Given the description of an element on the screen output the (x, y) to click on. 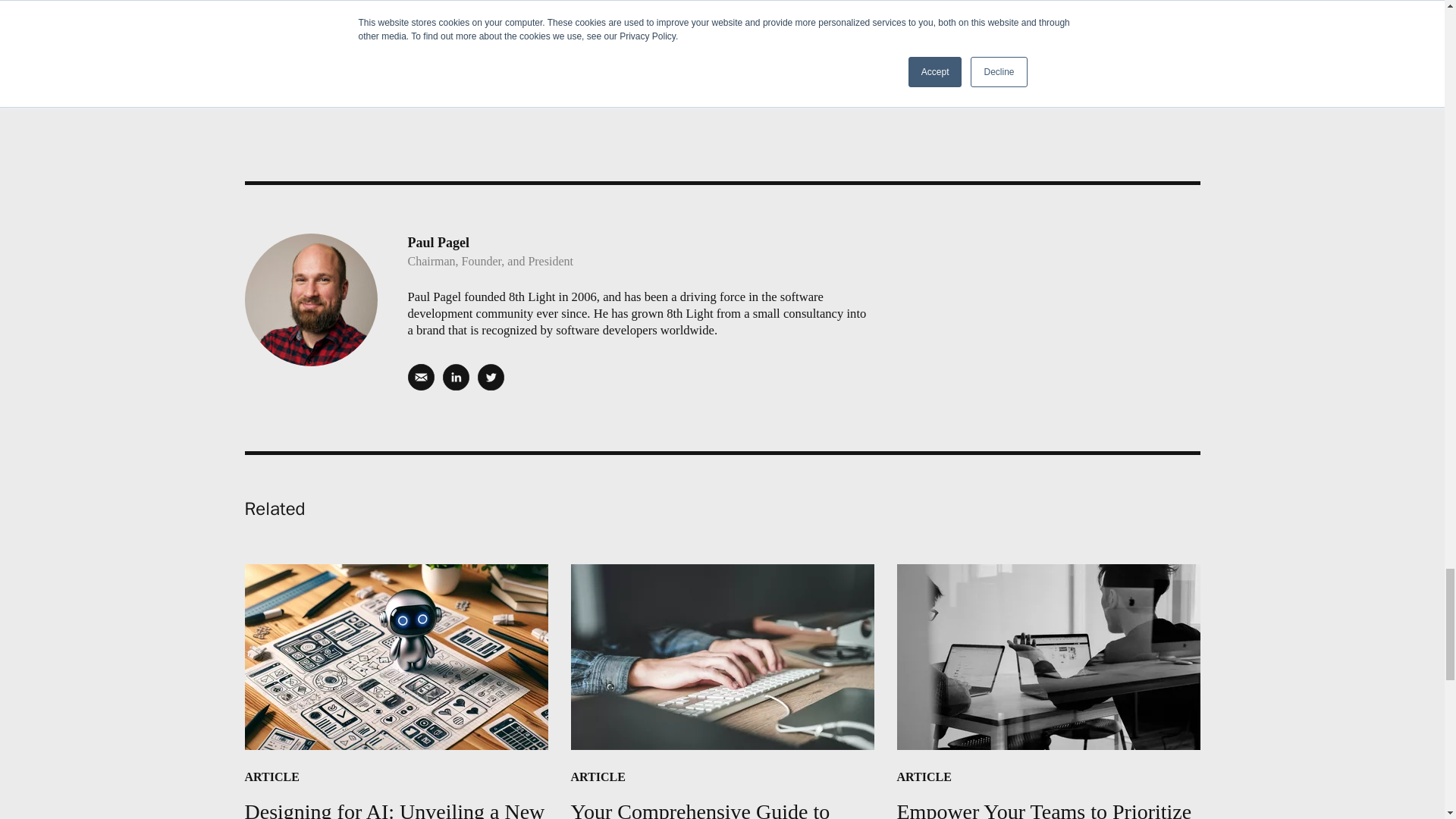
Paul Pagel (395, 691)
